Given the description of an element on the screen output the (x, y) to click on. 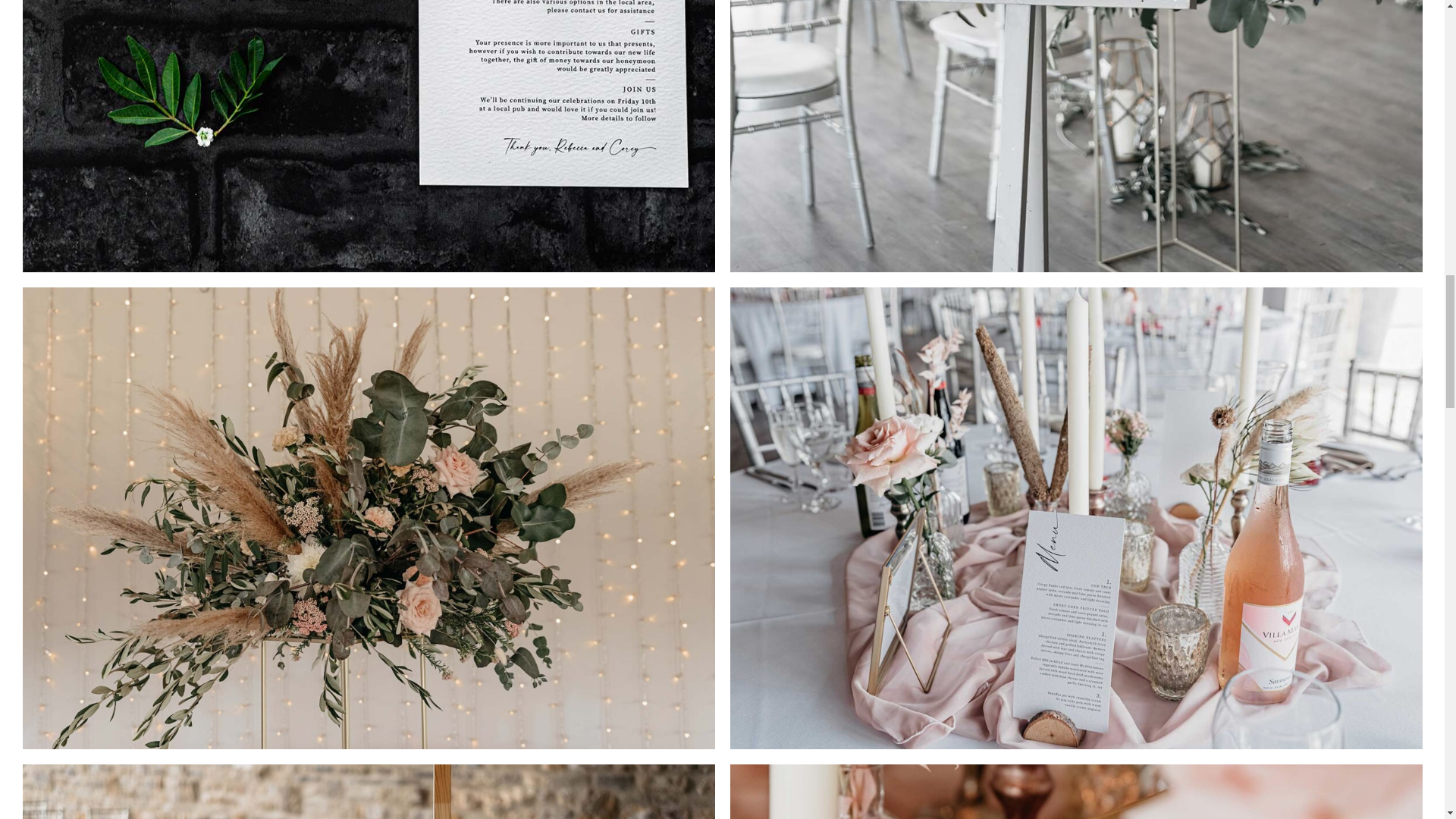
simply stylish monotone wedding stationery (368, 791)
simple wedding table name card (1076, 791)
